Given the description of an element on the screen output the (x, y) to click on. 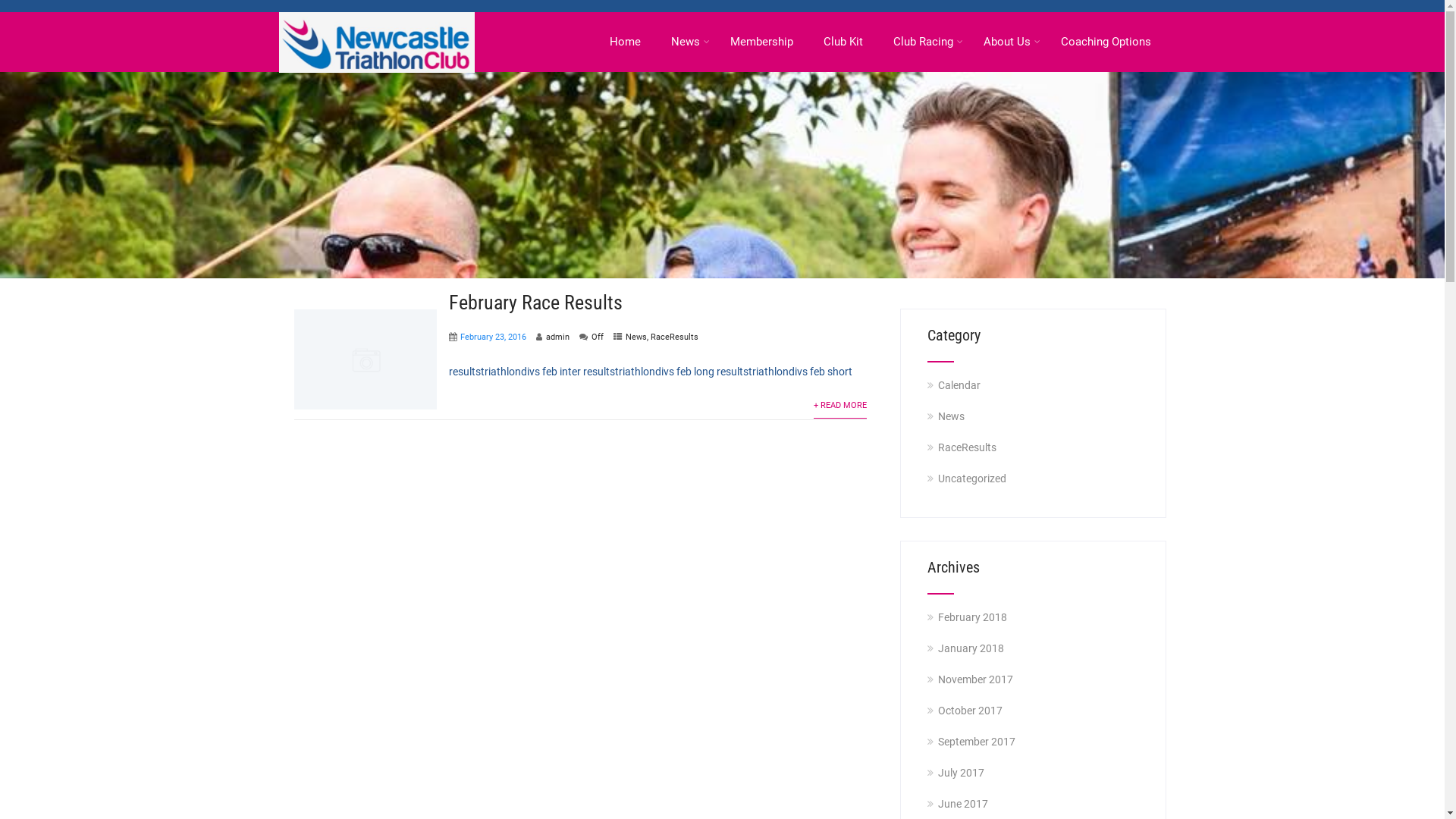
News Element type: text (635, 337)
Club Racing Element type: text (923, 42)
Uncategorized Element type: text (972, 478)
News Element type: text (951, 416)
News Element type: text (684, 42)
October 2017 Element type: text (970, 710)
November 2017 Element type: text (975, 679)
+ READ MORE Element type: text (839, 405)
Club Kit Element type: text (843, 42)
Calendar Element type: text (959, 385)
About Us Element type: text (1005, 42)
Membership Element type: text (760, 42)
January 2018 Element type: text (971, 648)
admin Element type: text (557, 337)
June 2017 Element type: text (963, 803)
February 2018 Element type: text (972, 617)
February 23, 2016 Element type: text (492, 337)
September 2017 Element type: text (976, 741)
RaceResults Element type: text (967, 447)
Coaching Options Element type: text (1104, 42)
July 2017 Element type: text (961, 772)
Home Element type: text (624, 42)
February Race Results Element type: text (535, 302)
Newcastle Triathlon Club Element type: hover (376, 19)
RaceResults Element type: text (674, 337)
